Given the description of an element on the screen output the (x, y) to click on. 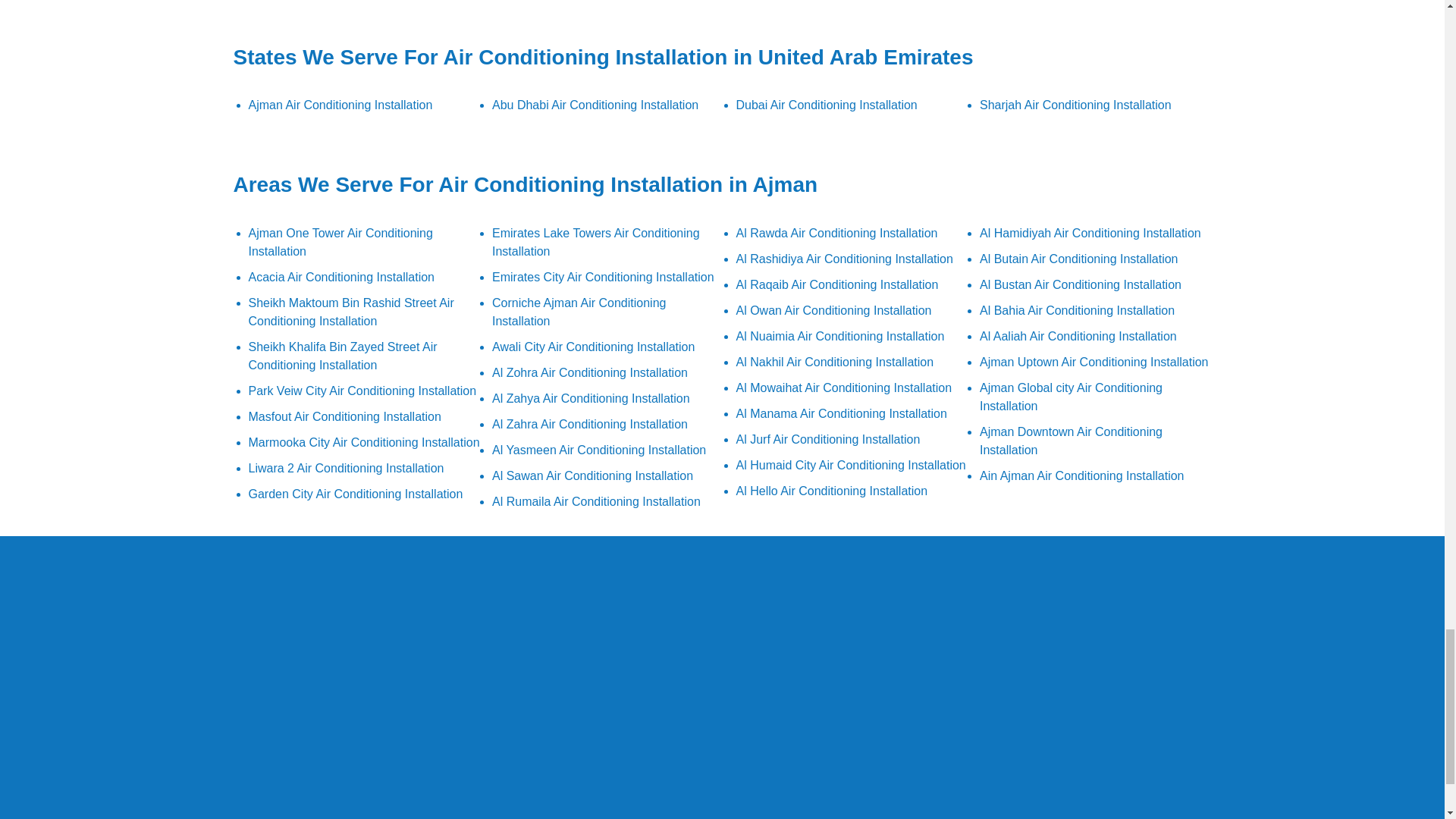
Ajman One Tower Air Conditioning Installation (340, 241)
Sharjah Air Conditioning Installation (1075, 104)
Dubai Air Conditioning Installation (826, 104)
Park Veiw City Air Conditioning Installation (362, 390)
Ajman Air Conditioning Installation (340, 104)
Acacia Air Conditioning Installation (340, 277)
Masfout Air Conditioning Installation (344, 416)
Abu Dhabi Air Conditioning Installation (595, 104)
